Given the description of an element on the screen output the (x, y) to click on. 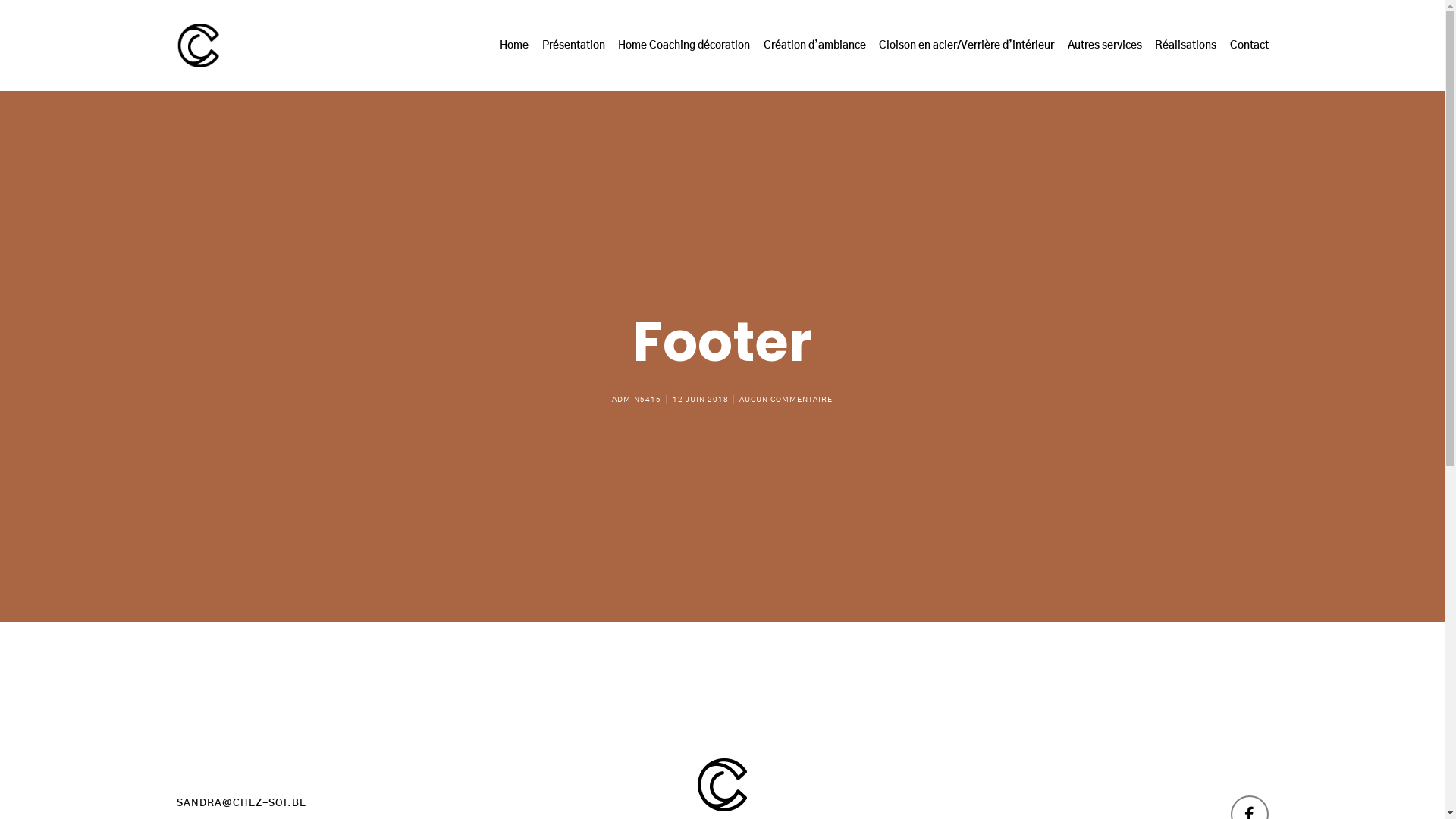
Contact Element type: text (1246, 45)
Twomorrow Element type: text (779, 785)
SANDRA@CHEZ-SOI.BE Element type: text (240, 616)
Autres services Element type: text (1104, 45)
Home Element type: text (514, 45)
Facebook Element type: text (1248, 627)
SANDRA@CHEZ-SOI.BE Element type: text (240, 803)
